Given the description of an element on the screen output the (x, y) to click on. 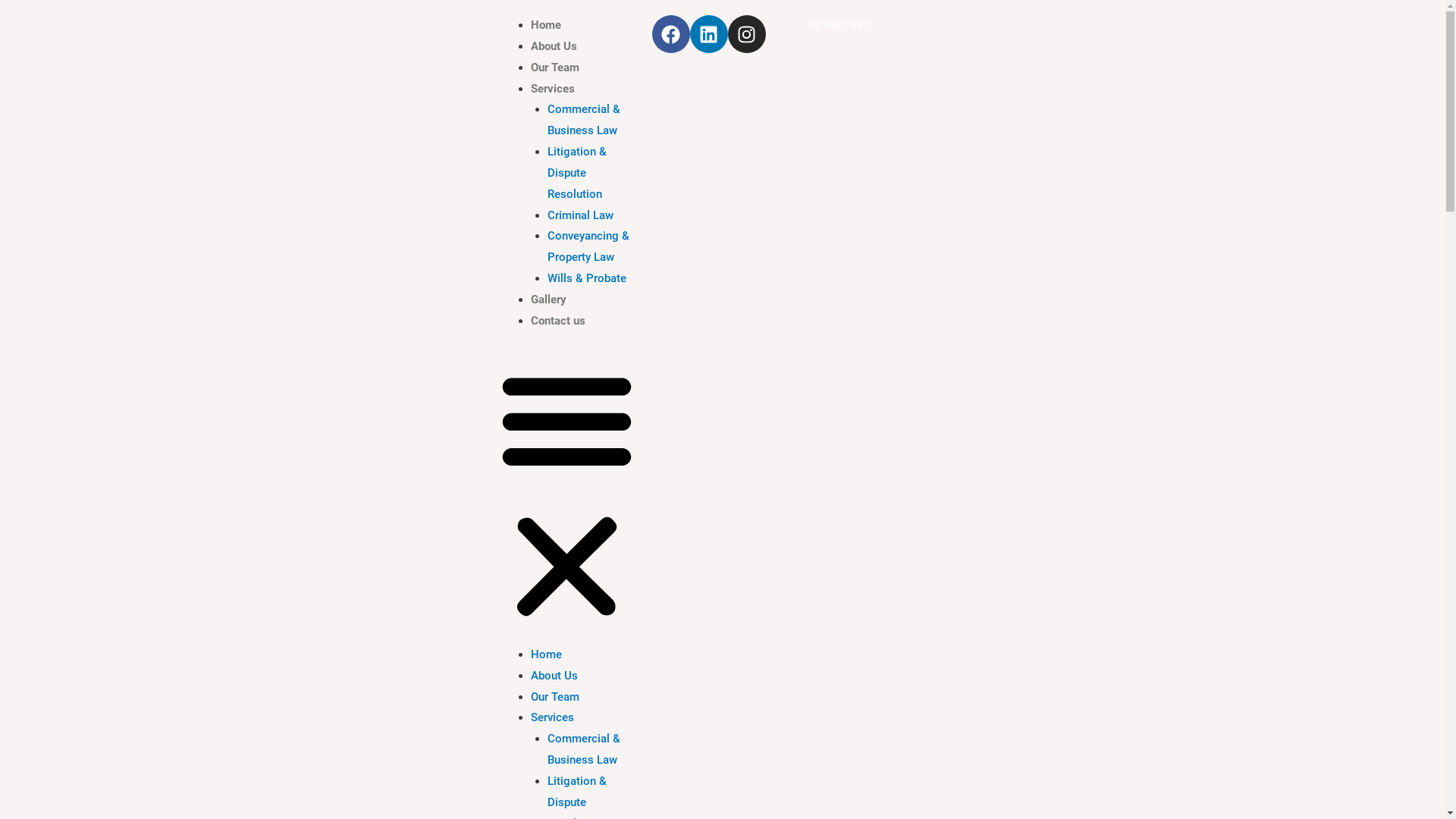
03 9431 5312 Element type: text (840, 24)
Wills & Probate Element type: text (586, 278)
Conveyancing & Property Law Element type: text (588, 246)
Commercial & Business Law Element type: text (583, 119)
Services Element type: text (552, 88)
Our Team Element type: text (554, 67)
Our Team Element type: text (554, 696)
Criminal Law Element type: text (580, 215)
About Us Element type: text (553, 46)
Contact us Element type: text (557, 320)
Home Element type: text (545, 24)
Commercial & Business Law Element type: text (583, 748)
Home Element type: text (545, 654)
Services Element type: text (552, 717)
About Us Element type: text (553, 675)
Litigation & Dispute Resolution Element type: text (576, 172)
Gallery Element type: text (548, 299)
